Given the description of an element on the screen output the (x, y) to click on. 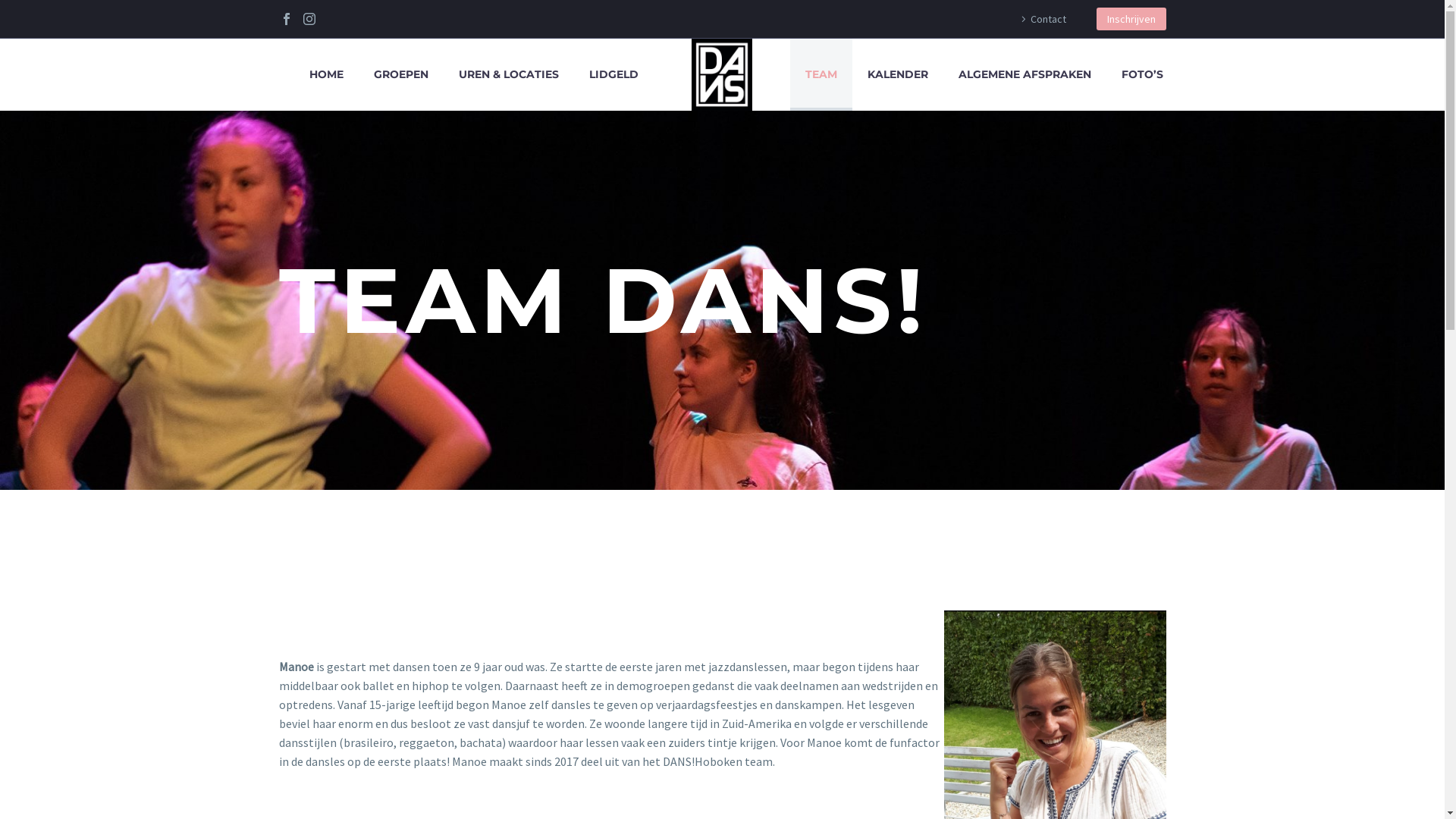
Instagram Element type: hover (308, 18)
ALGEMENE AFSPRAKEN Element type: text (1024, 74)
Contact Element type: text (1040, 18)
HOME Element type: text (326, 74)
KALENDER Element type: text (897, 74)
TEAM Element type: text (821, 74)
LIDGELD Element type: text (613, 74)
UREN & LOCATIES Element type: text (508, 74)
GROEPEN Element type: text (400, 74)
Inschrijven Element type: text (1131, 18)
Facebook Element type: hover (285, 18)
